Given the description of an element on the screen output the (x, y) to click on. 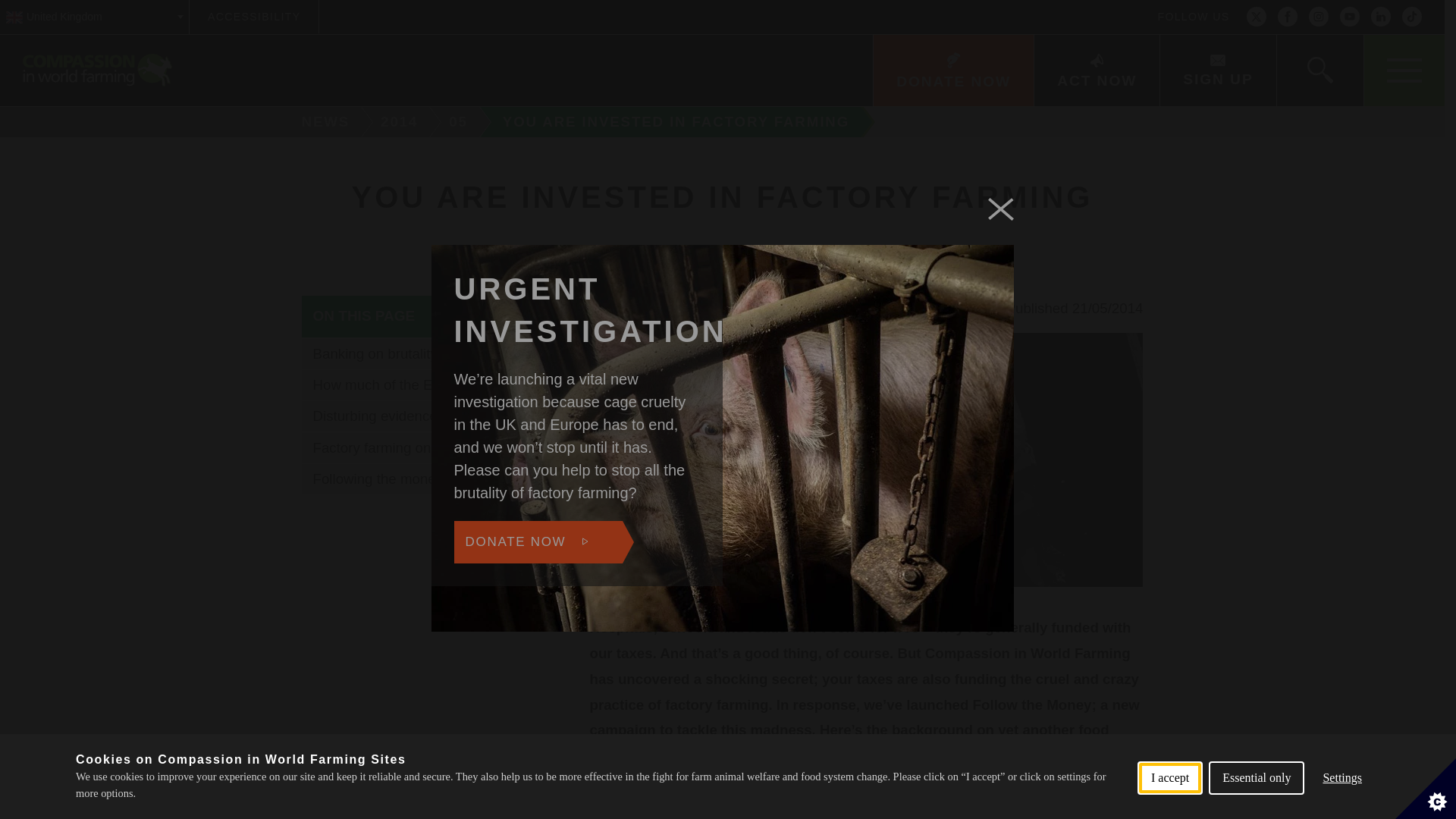
Essential only (1256, 808)
Skip to Content (778, 1)
DONATE NOW (952, 70)
05 (460, 122)
NEWS (320, 122)
Settings (1342, 802)
United Kingdom (94, 16)
Instagram (1318, 16)
ACT NOW (1095, 70)
2014 (401, 122)
I accept (1169, 811)
SIGN UP (1216, 70)
TikTok (1412, 16)
ACCESSIBILITY (253, 16)
Facebook (1287, 16)
